Given the description of an element on the screen output the (x, y) to click on. 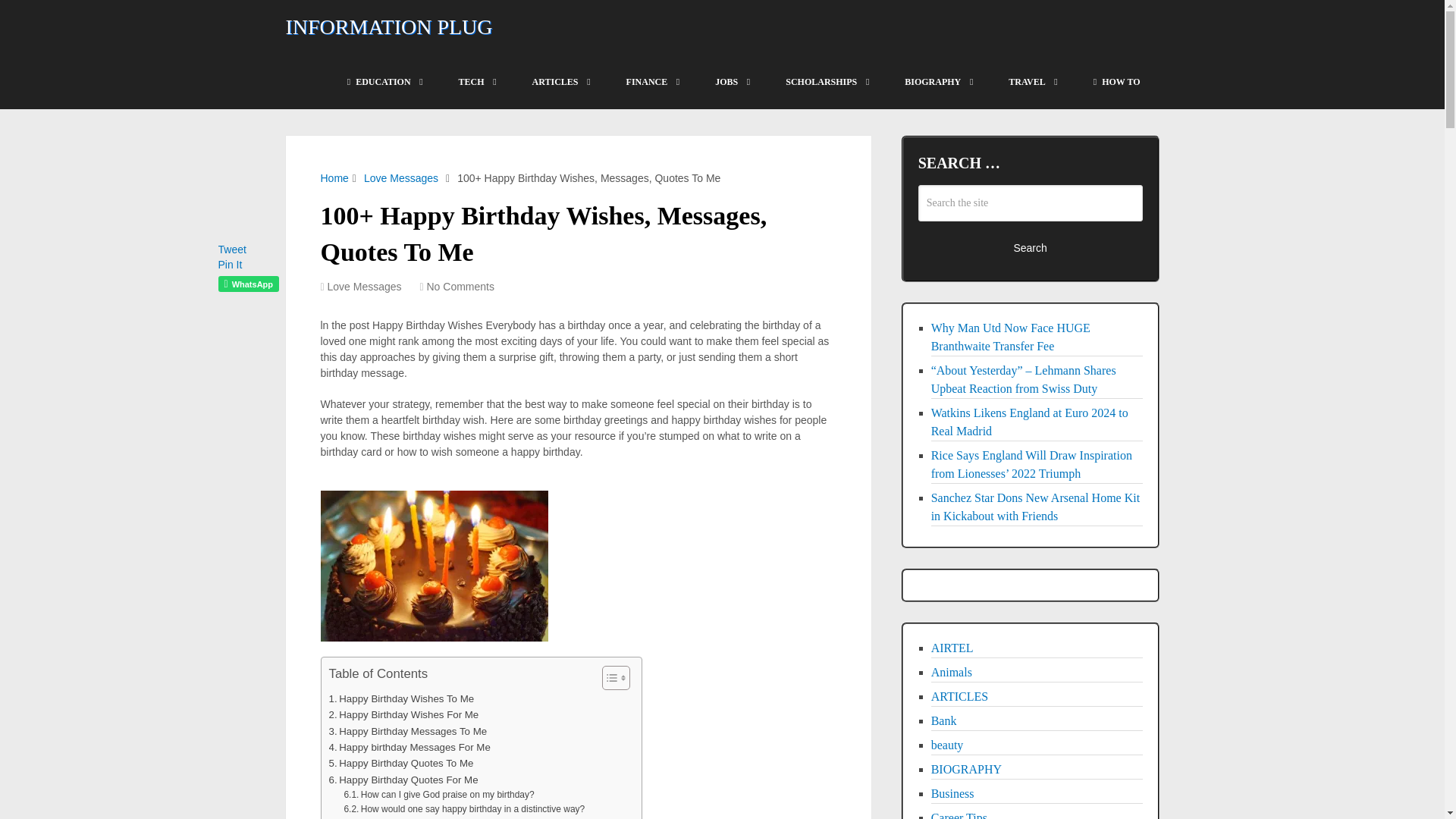
FINANCE (652, 81)
View all posts in Love Messages (364, 286)
How would one say happy birthday in a distinctive way? (464, 809)
How can I give God praise on my birthday? (438, 794)
Happy Birthday Wishes To Me (401, 698)
BIOGRAPHY (937, 81)
Happy Birthday Quotes For Me (404, 779)
Happy Birthday Quotes To Me (401, 763)
Happy Birthday Messages To Me (408, 731)
ARTICLES (560, 81)
EDUCATION (384, 81)
TECH (476, 81)
INFORMATION PLUG (388, 26)
Happy birthday Messages For Me (409, 747)
